Given the description of an element on the screen output the (x, y) to click on. 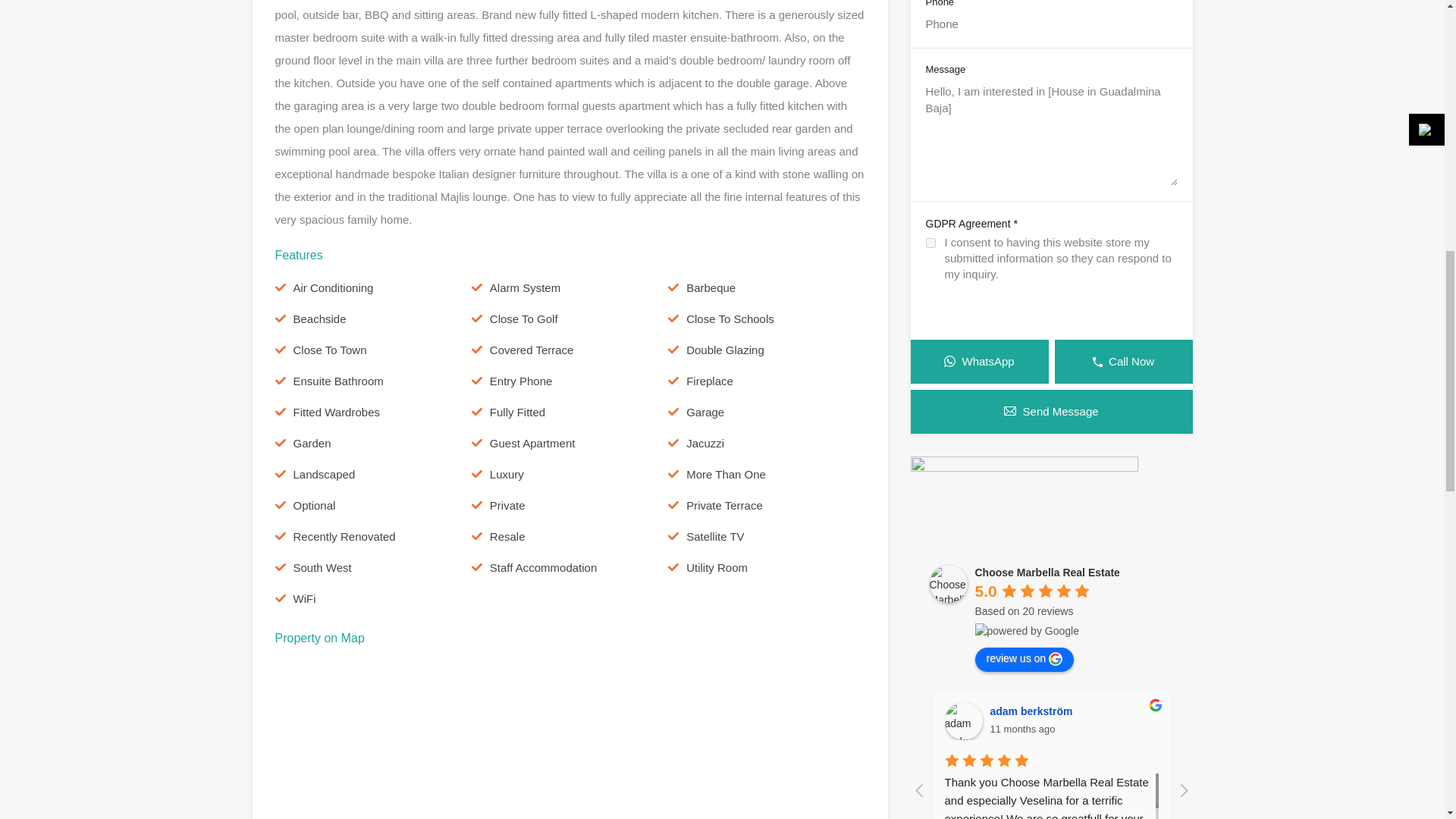
powered by Google (1026, 630)
Choose Marbella Real Estate (949, 583)
